Given the description of an element on the screen output the (x, y) to click on. 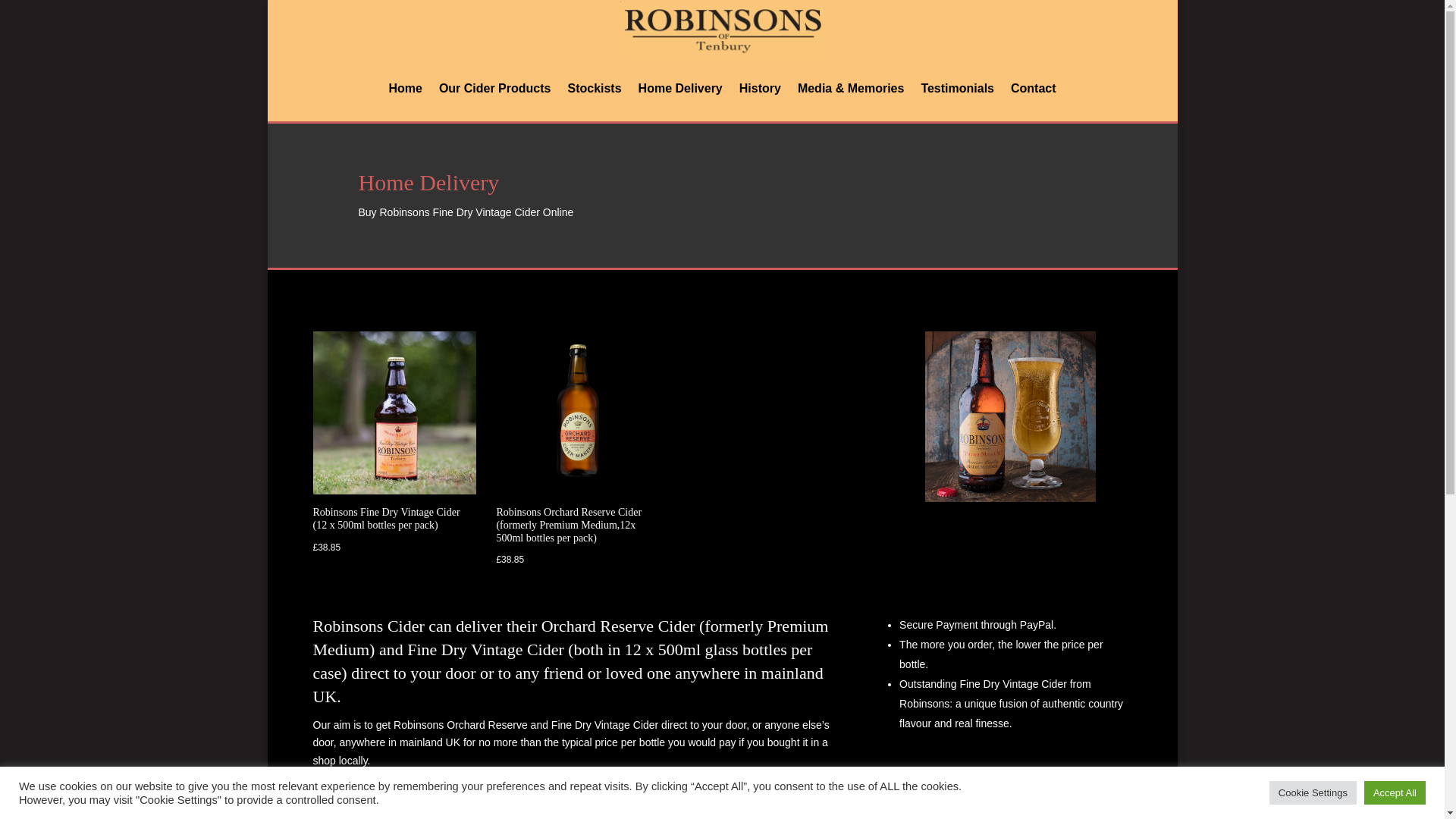
Contact (1033, 88)
Stockists (594, 88)
Home Delivery (680, 88)
Testimonials (957, 88)
Cookie Settings (1312, 792)
Home (405, 88)
Our Cider Products (495, 88)
Accept All (1394, 792)
History (759, 88)
